Given the description of an element on the screen output the (x, y) to click on. 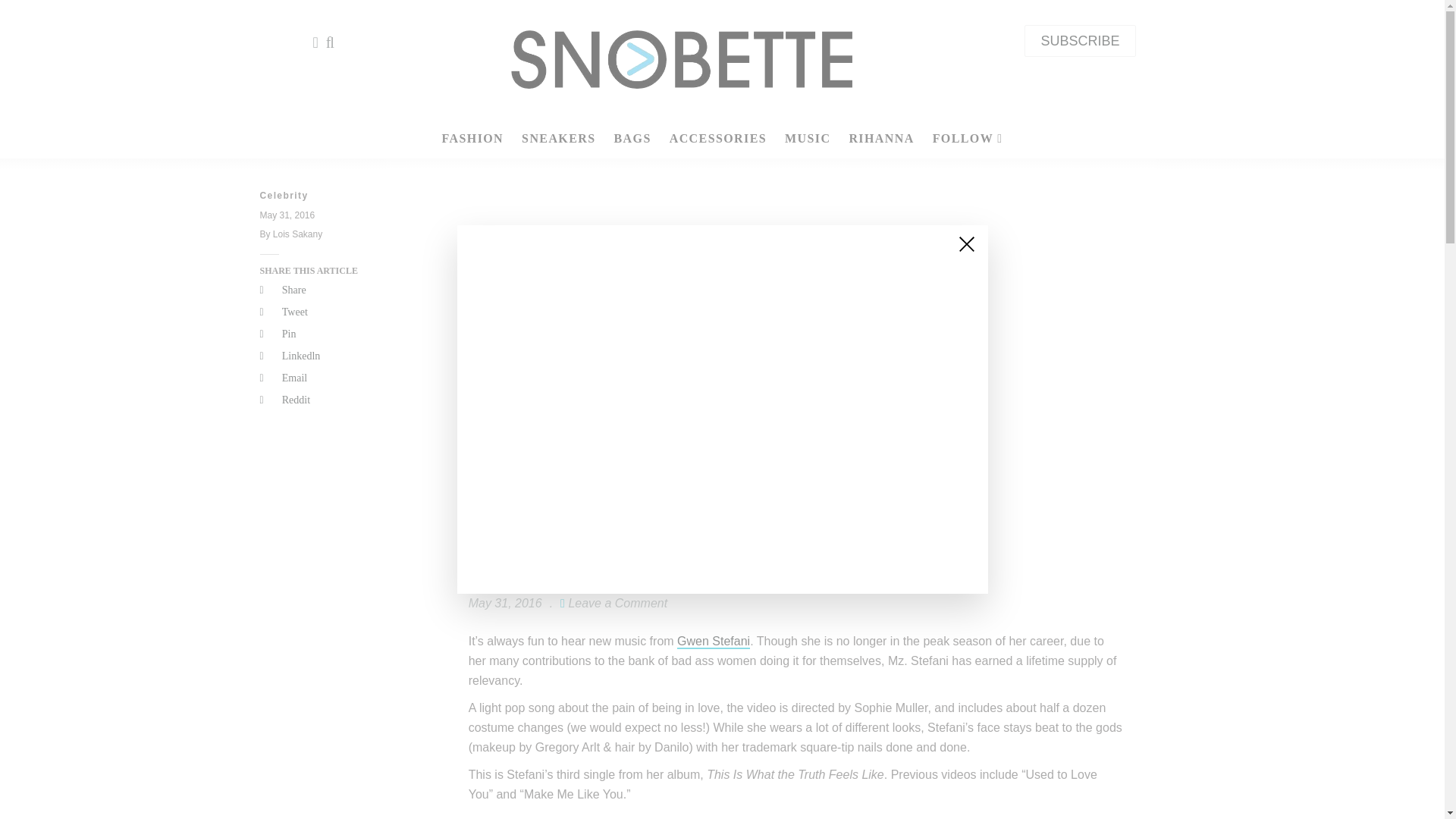
RIHANNA (881, 138)
Leave a Comment (616, 603)
Share (333, 290)
ACCESSORIES (718, 138)
FOLLOW (967, 138)
SUBSCRIBE (1080, 40)
Tweet (333, 312)
Linkedln (333, 356)
Celebrity (333, 196)
